Given the description of an element on the screen output the (x, y) to click on. 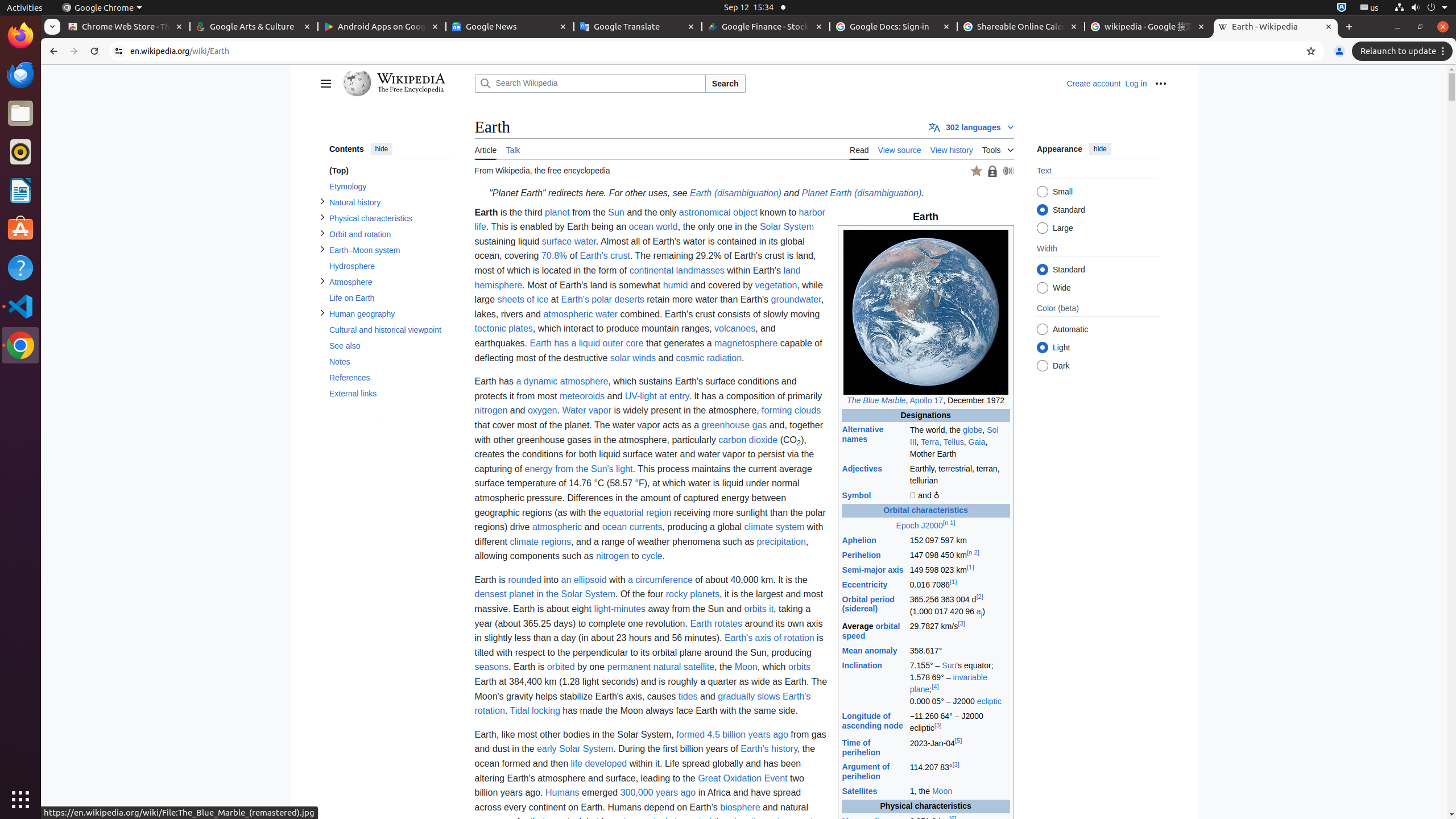
tides Element type: link (687, 696)
Apollo 17 Element type: link (926, 399)
Earth rotates Element type: link (715, 623)
ocean world Element type: link (652, 226)
solar winds Element type: link (632, 357)
